Given the description of an element on the screen output the (x, y) to click on. 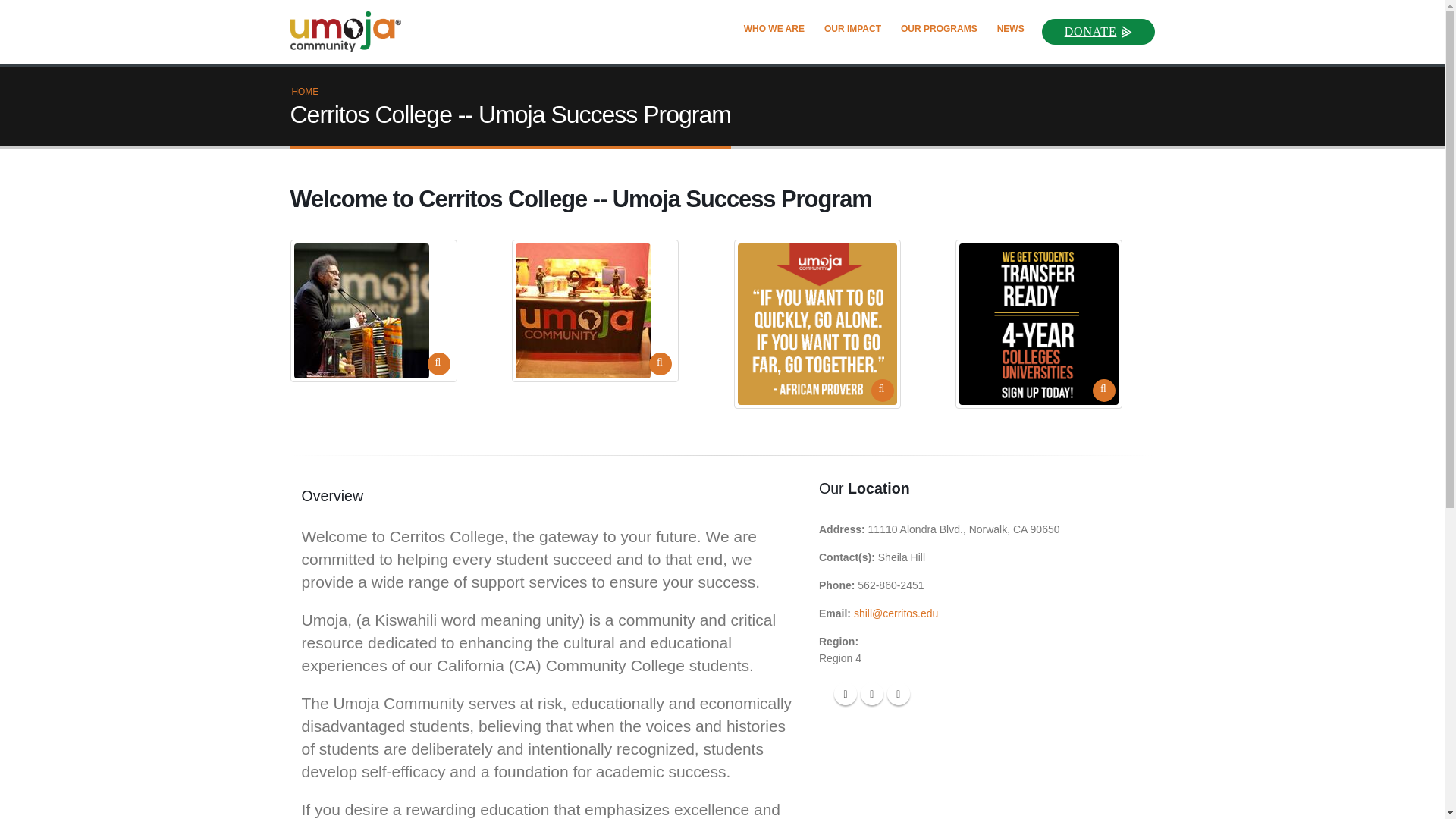
Instagram (898, 693)
DONATE (1098, 31)
HOME (304, 91)
Facebook (845, 693)
Twitter (871, 693)
Home (351, 31)
